Given the description of an element on the screen output the (x, y) to click on. 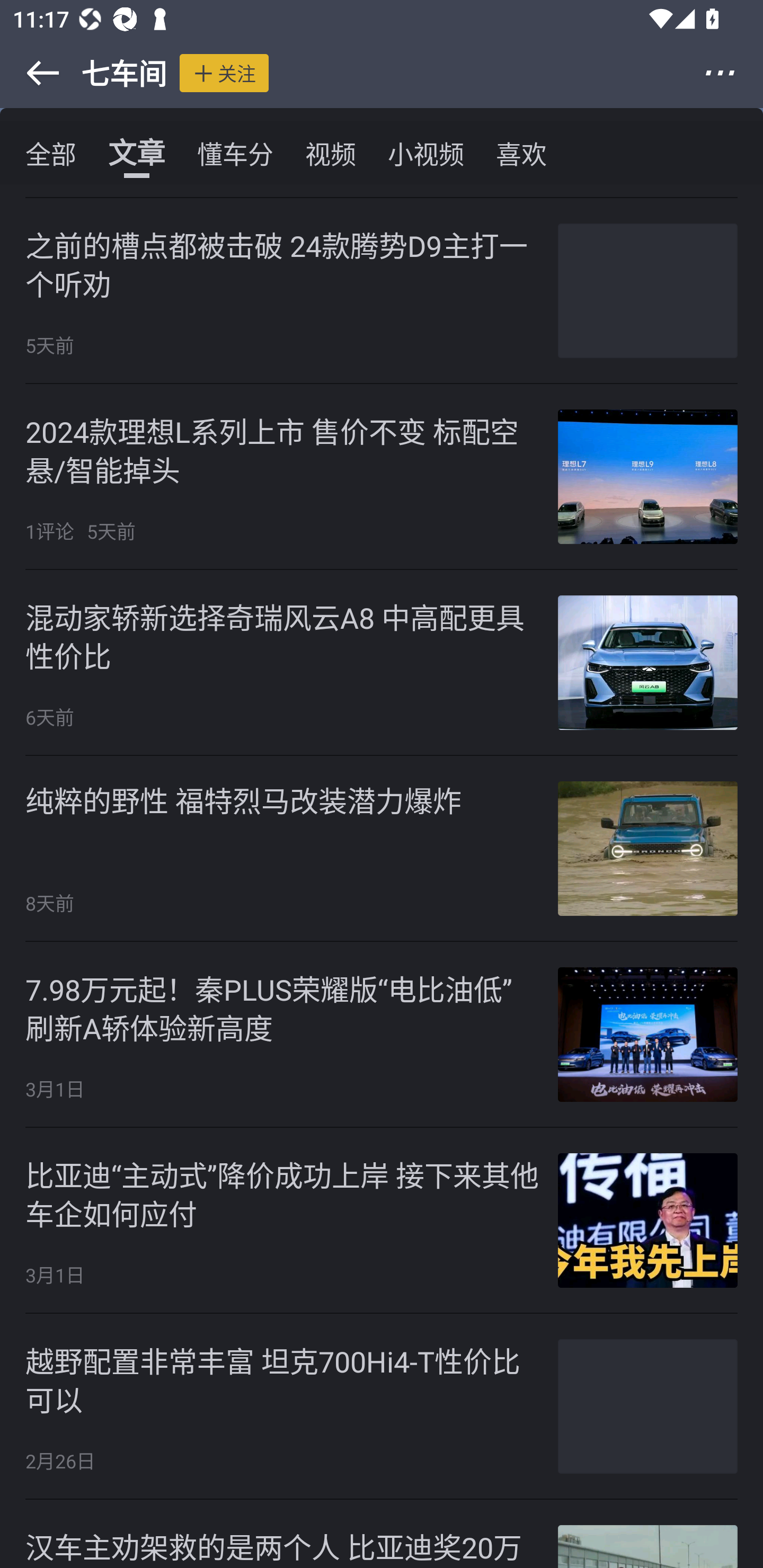
 (30, 72)
 (732, 72)
 关注 (223, 72)
全部 (50, 152)
文章 (136, 152)
懂车分 (234, 152)
视频 (330, 152)
小视频 (425, 152)
喜欢 (521, 152)
之前的槽点都被击破 24款腾势D9主打一个听劝 5天前 (381, 290)
2024款理想L系列上市 售价不变 标配空悬/智能掉头 1评论 5天前 (381, 477)
混动家轿新选择奇瑞风云A8 中高配更具性价比 6天前 (381, 662)
纯粹的野性 福特烈马改装潜力爆炸 8天前 (381, 848)
7.98万元起！秦PLUS荣耀版“电比油低”刷新A轿体验新高度 3月1日 (381, 1034)
比亚迪“主动式”降价成功上岸 接下来其他车企如何应付 3月1日 (381, 1220)
越野配置非常丰富 坦克700Hi4-T性价比可以 2月26日 (381, 1406)
汉车主劝架救的是两个人 比亚迪奖20万鼓舞的是一群人 (381, 1533)
